Given the description of an element on the screen output the (x, y) to click on. 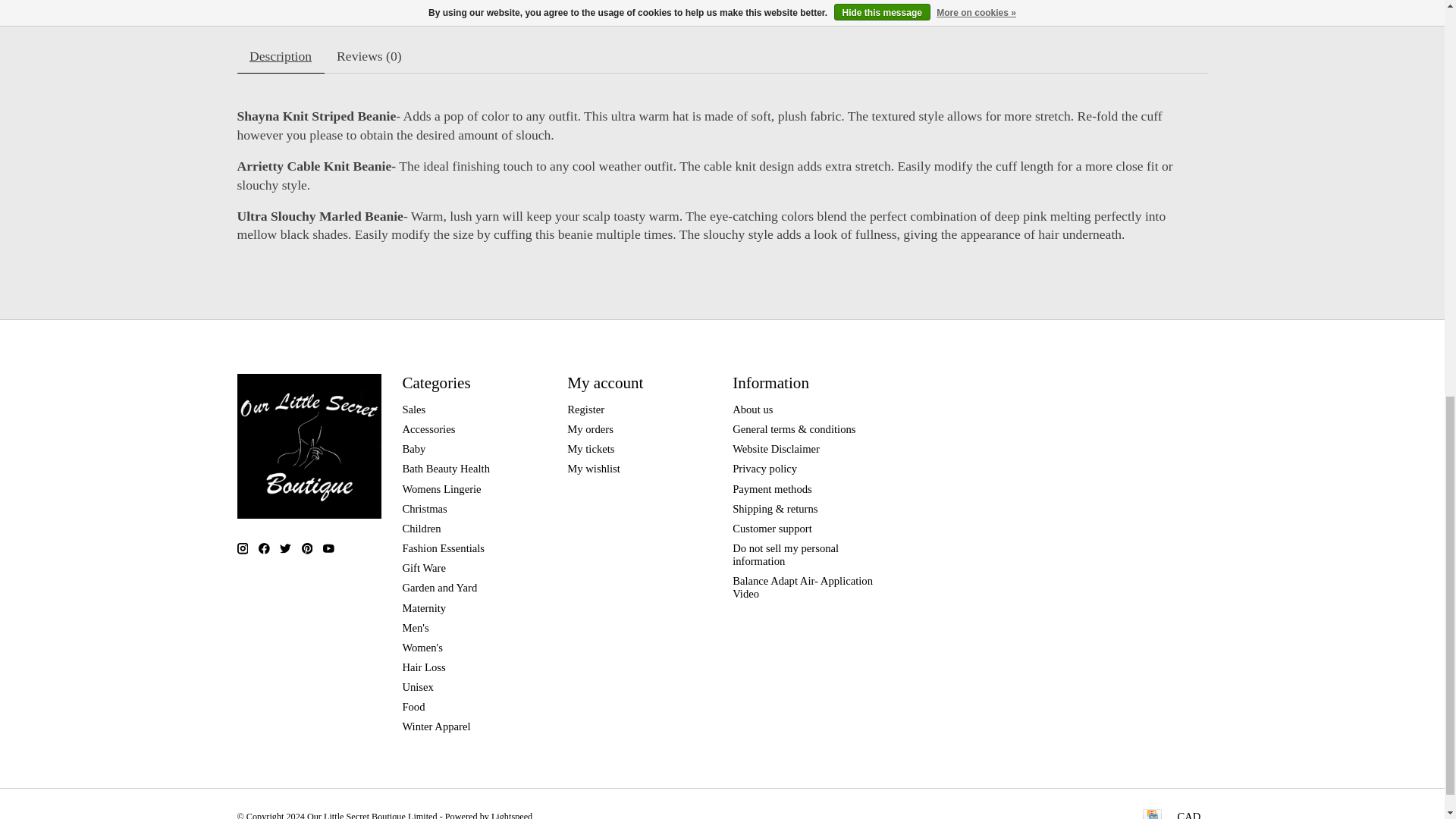
About us (752, 409)
My wishlist (593, 468)
Privacy policy (764, 468)
My orders (589, 428)
Register (585, 409)
My tickets (590, 449)
Payment methods (772, 489)
Website Disclaimer (775, 449)
